Given the description of an element on the screen output the (x, y) to click on. 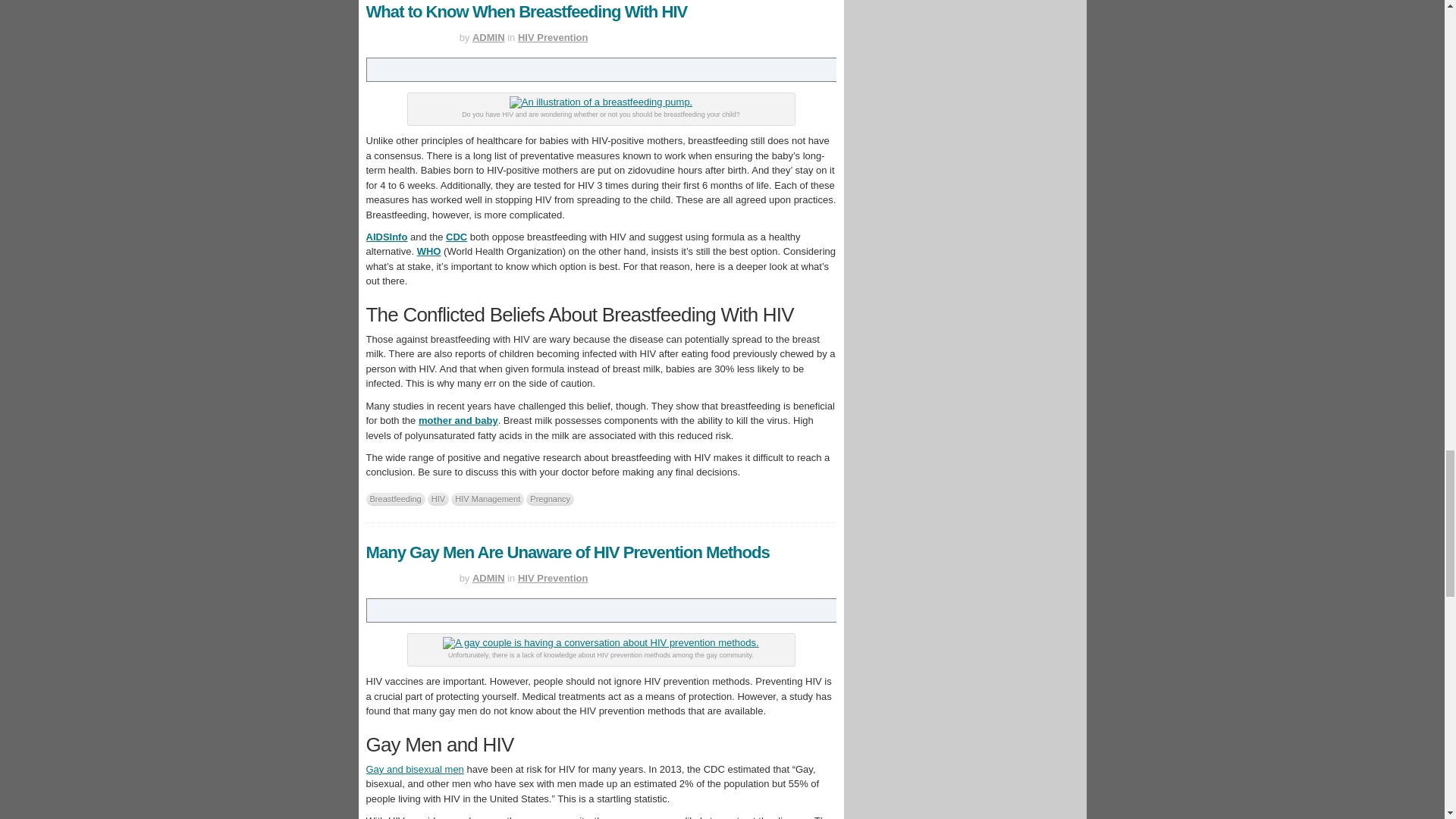
Many Gay Men Are Unaware of HIV Prevention Methods (566, 551)
HIV Prevention (553, 37)
AIDSInfo (386, 236)
CDC (456, 236)
WHO (428, 251)
Pregnancy (549, 499)
What to Know When Breastfeeding With HIV (526, 11)
mother and baby (458, 419)
HIV Management (487, 499)
HIV (438, 499)
